Given the description of an element on the screen output the (x, y) to click on. 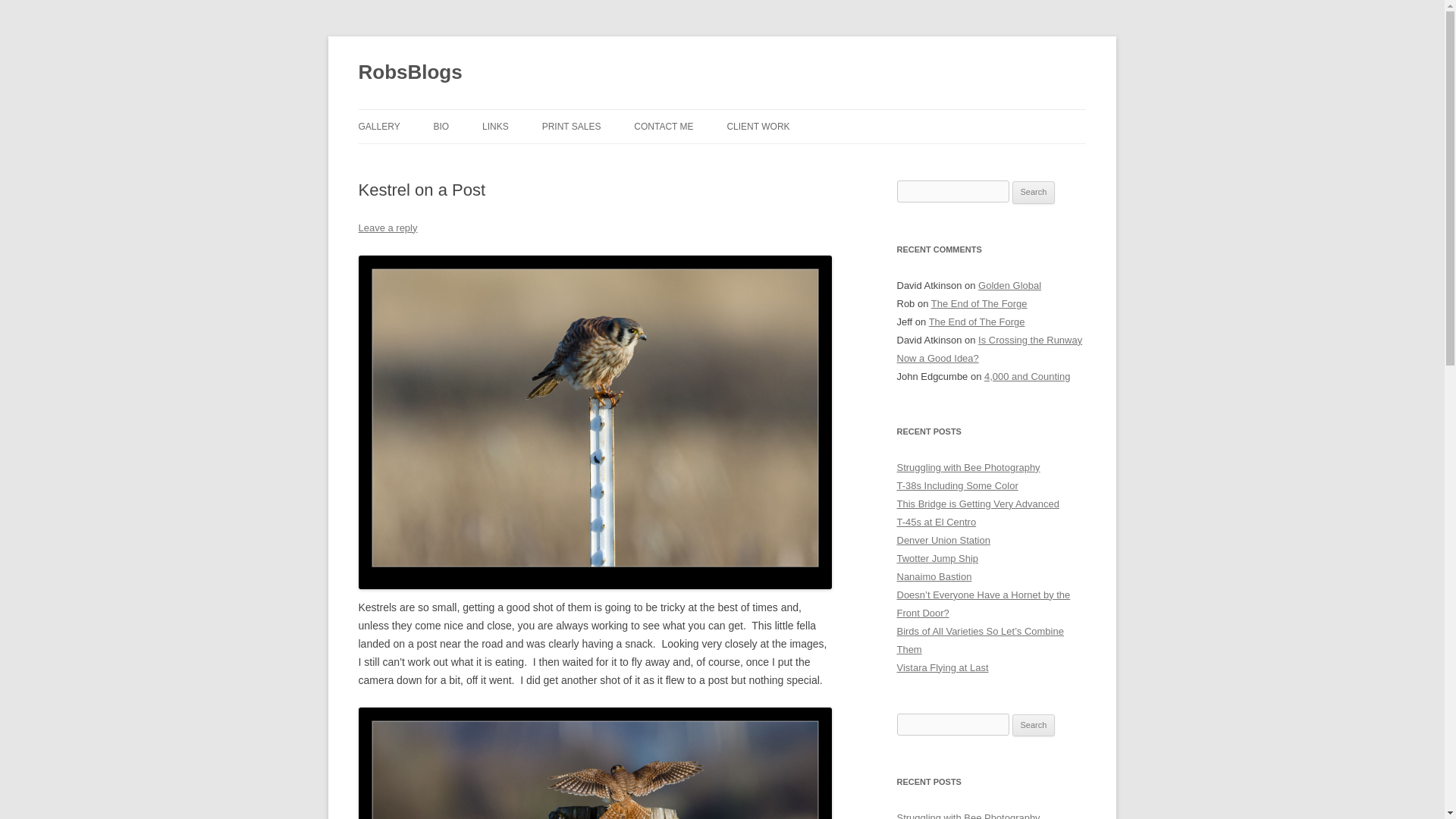
Search (1033, 725)
PRINT SALES (571, 126)
GALLERY (378, 126)
CLIENT WORK (757, 126)
The End of The Forge (979, 303)
Search (1033, 191)
CONTACT ME (663, 126)
RobsBlogs (409, 72)
Leave a reply (387, 227)
MIDWEST HELICOPTERS (801, 158)
The End of The Forge (976, 321)
Search (1033, 191)
Golden Global (1009, 285)
